Given the description of an element on the screen output the (x, y) to click on. 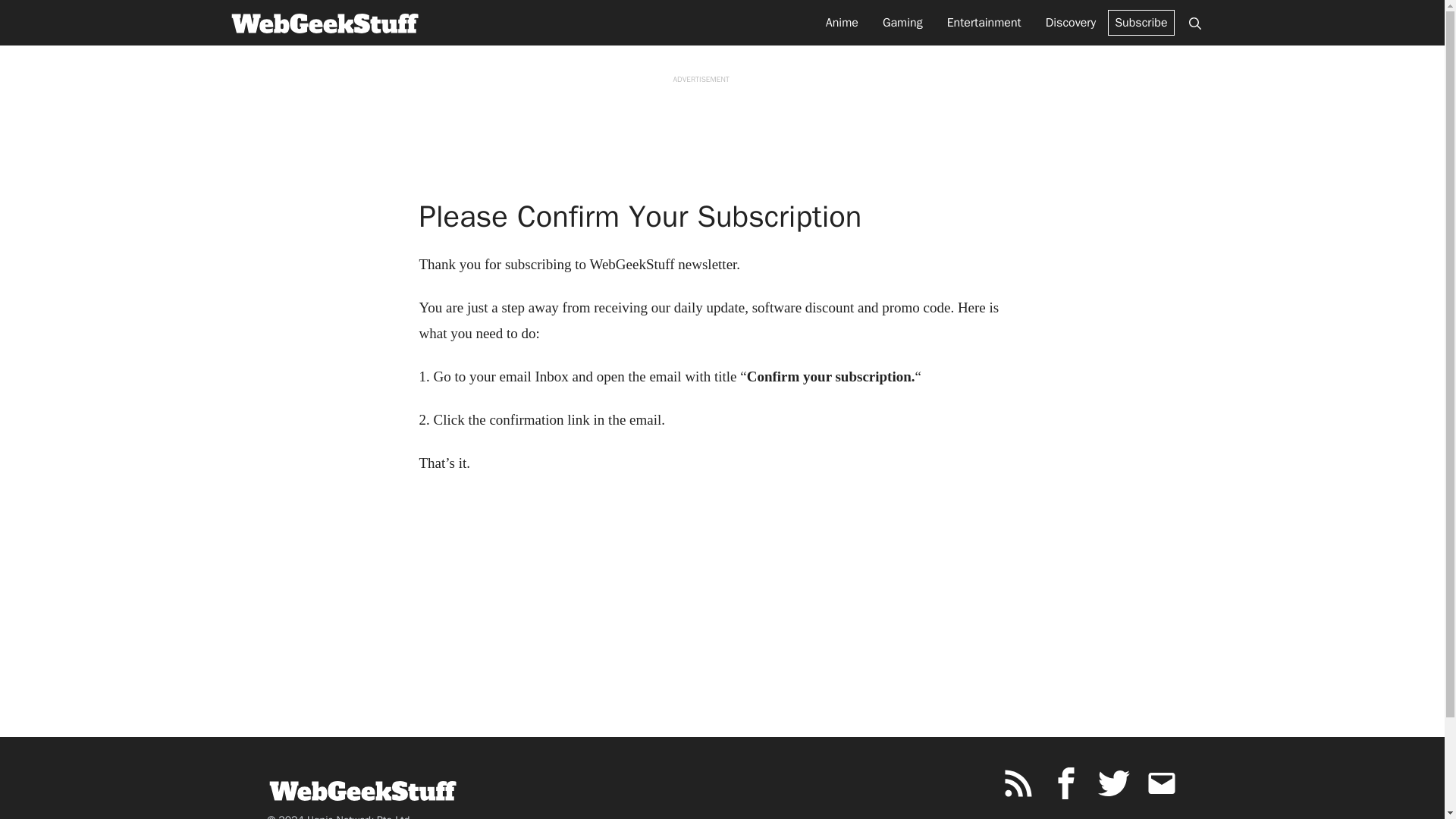
Discovery (1070, 22)
Discovery (1070, 22)
Anime (841, 22)
Subscribe (1140, 22)
Search (1193, 22)
Entertainment (983, 22)
Subscribe (1140, 22)
Gaming (902, 22)
Entertainment (983, 22)
Anime (841, 22)
Gaming (902, 22)
